Given the description of an element on the screen output the (x, y) to click on. 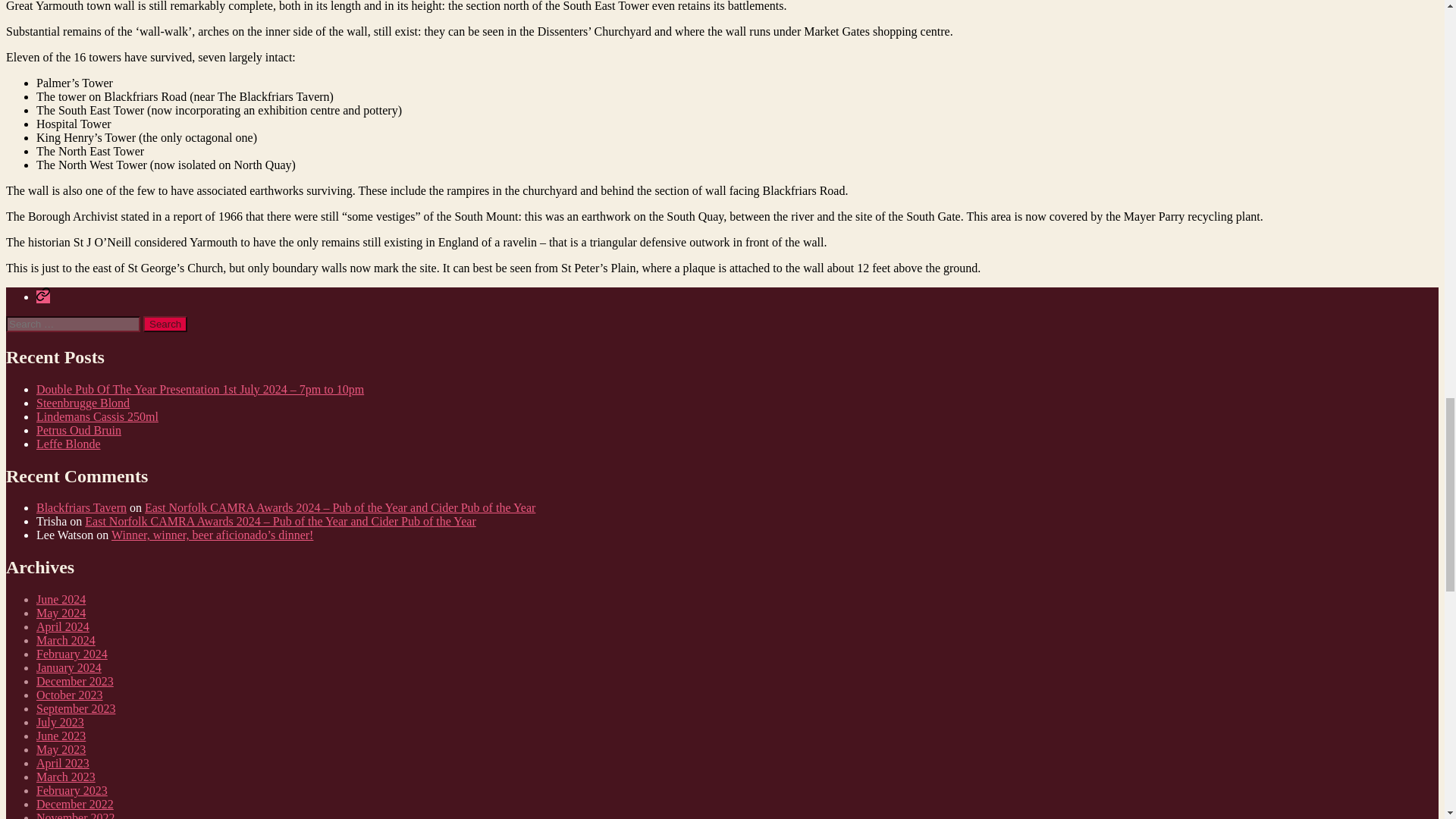
Search (164, 324)
Search (164, 324)
